Given the description of an element on the screen output the (x, y) to click on. 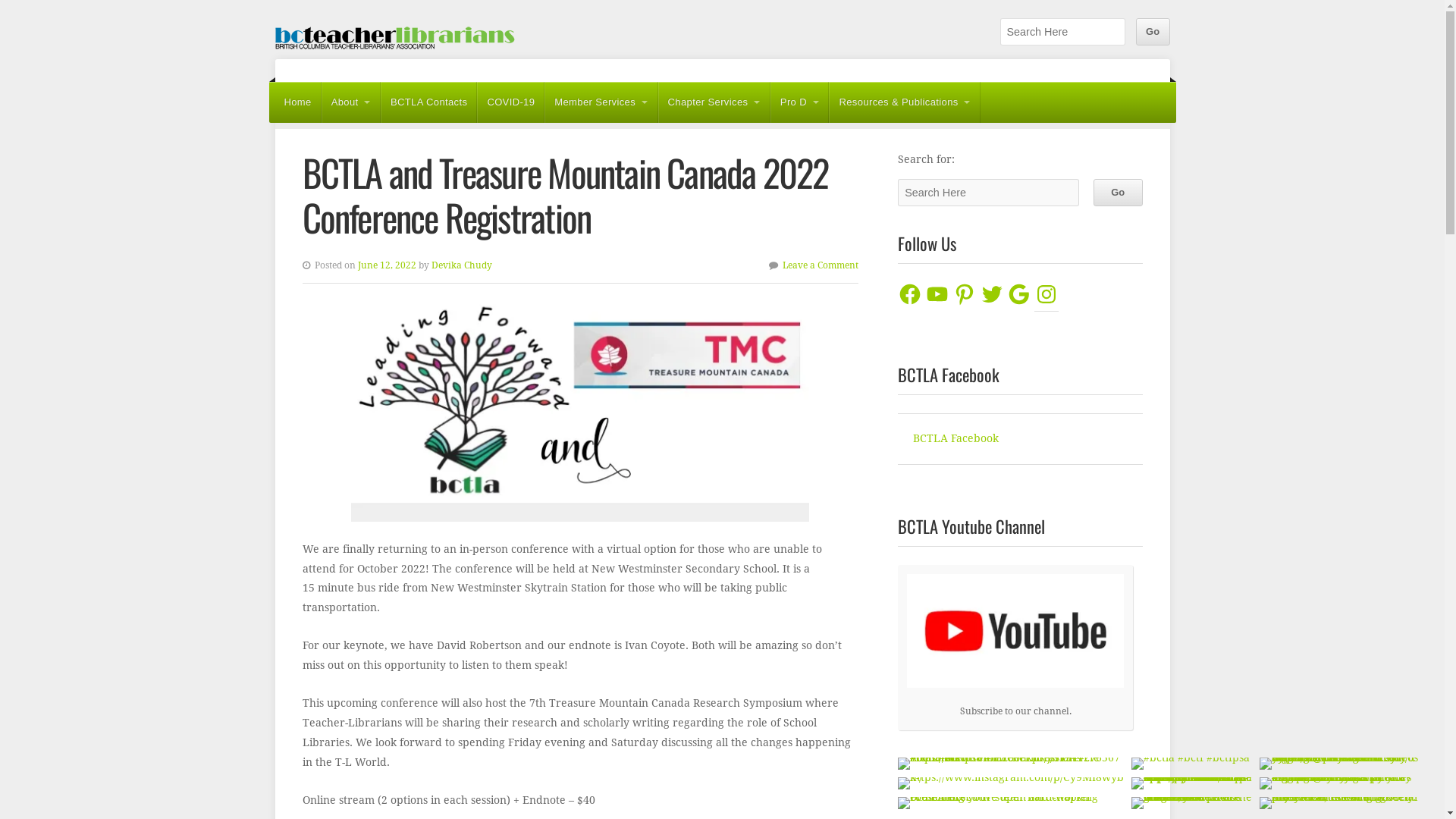
Instagram Element type: text (1046, 294)
Pinterest Element type: text (964, 294)
BC Teacher-Librarians' Association Element type: text (395, 38)
BCTLA Contacts Element type: text (428, 101)
June 12, 2022 Element type: text (386, 265)
Pro D Element type: text (799, 101)
Facebook Element type: text (909, 294)
Resources & Publications Element type: text (904, 101)
BCTLA Facebook Element type: text (948, 373)
Google Element type: text (1019, 294)
Search for: Element type: hover (1062, 31)
Home Element type: text (297, 101)
Leave a Comment Element type: text (820, 265)
Member Services Element type: text (600, 101)
BCTLA Facebook Element type: text (955, 438)
Chapter Services Element type: text (713, 101)
Devika Chudy Element type: text (460, 265)
YouTube Element type: text (937, 294)
About Element type: text (350, 101)
COVID-19 Element type: text (510, 101)
Go Element type: text (1152, 31)
Twitter Element type: text (991, 294)
Go Element type: text (1117, 192)
